Given the description of an element on the screen output the (x, y) to click on. 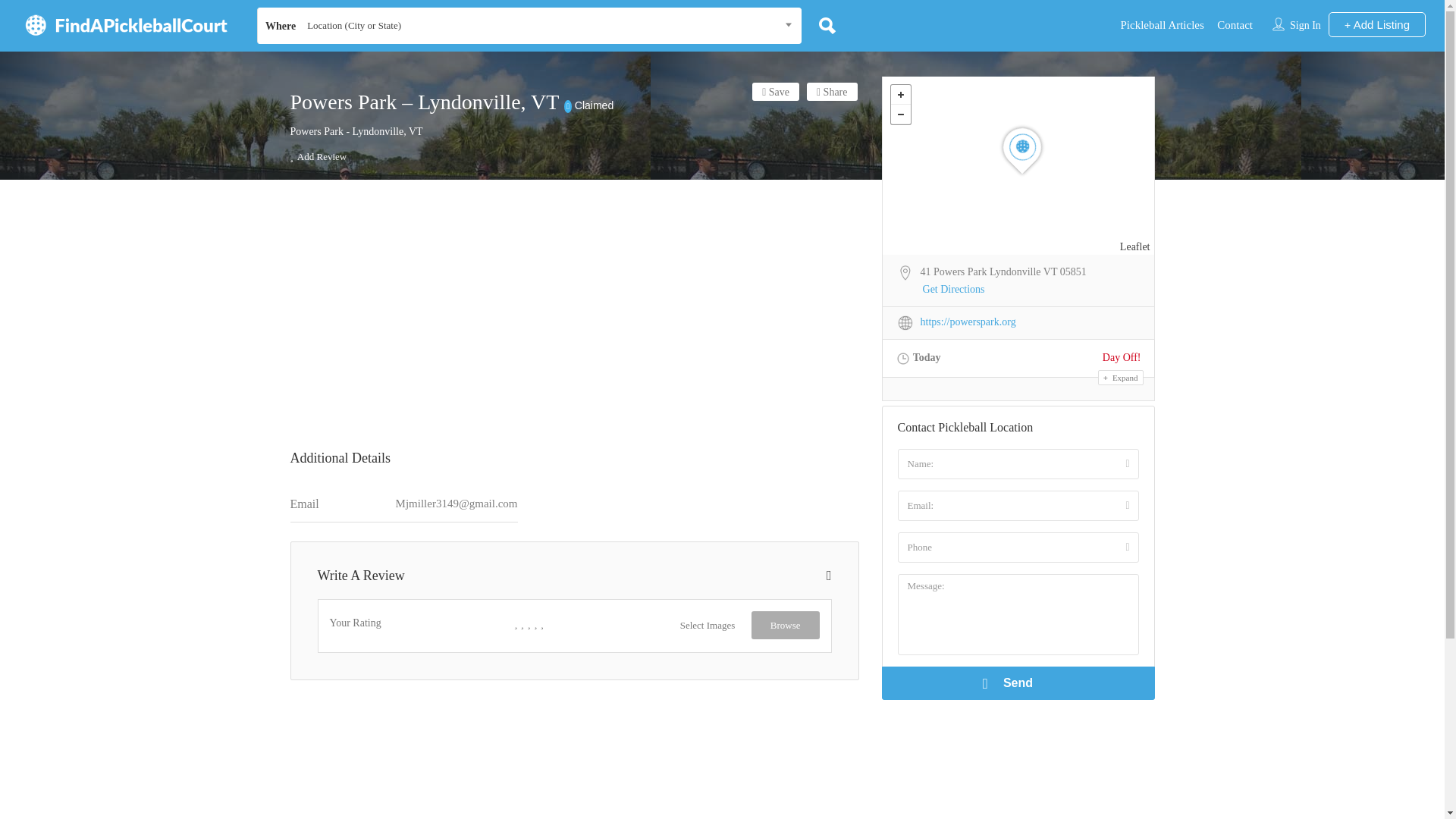
Send (1018, 683)
Sign In (1305, 25)
Contact (1234, 24)
Pickleball Articles (1161, 24)
Leaflet (1134, 246)
A JS library for interactive maps (1134, 246)
Expand (1119, 377)
Save (775, 91)
Browse (785, 624)
Advertisement (574, 315)
Add Listing (1376, 24)
Zoom in (901, 94)
- (901, 114)
Add Review (317, 156)
Get Directions (954, 289)
